Given the description of an element on the screen output the (x, y) to click on. 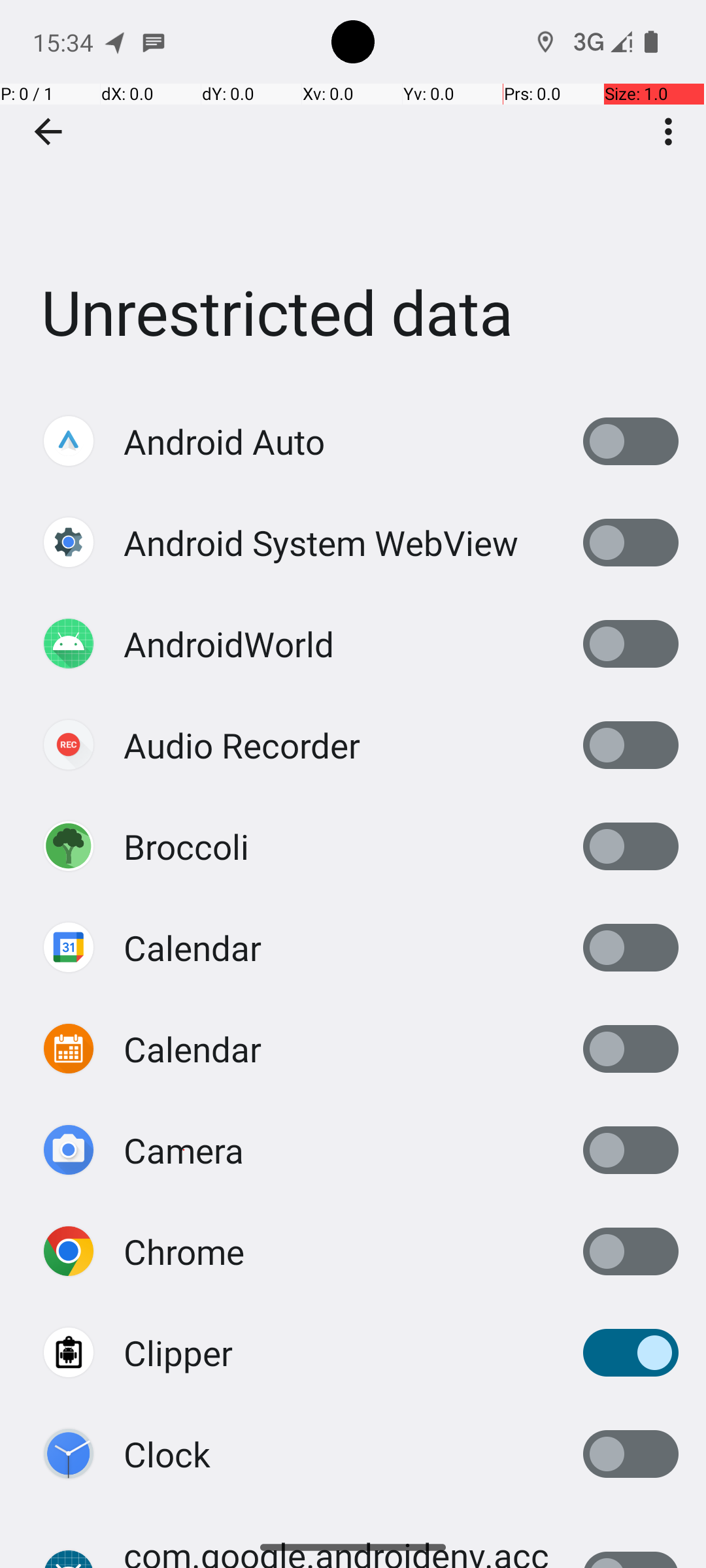
Unrestricted data Element type: android.widget.FrameLayout (353, 195)
Android Auto Element type: android.widget.TextView (223, 441)
Android System WebView Element type: android.widget.TextView (320, 542)
AndroidWorld Element type: android.widget.TextView (228, 643)
Camera Element type: android.widget.TextView (183, 1150)
Clipper Element type: android.widget.TextView (177, 1352)
